Given the description of an element on the screen output the (x, y) to click on. 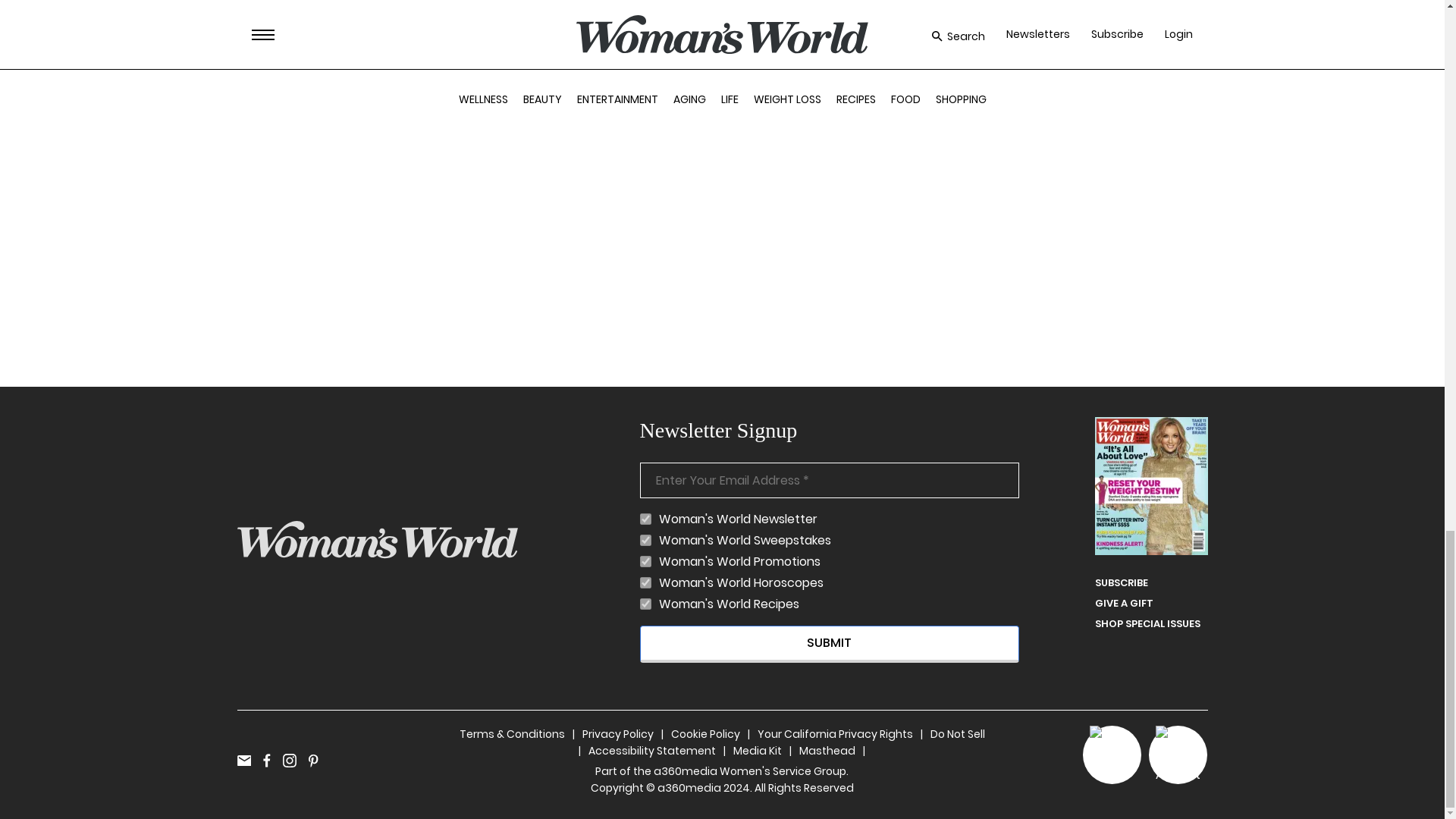
1 (645, 582)
1 (645, 603)
1 (645, 540)
1 (645, 518)
1 (645, 561)
